Given the description of an element on the screen output the (x, y) to click on. 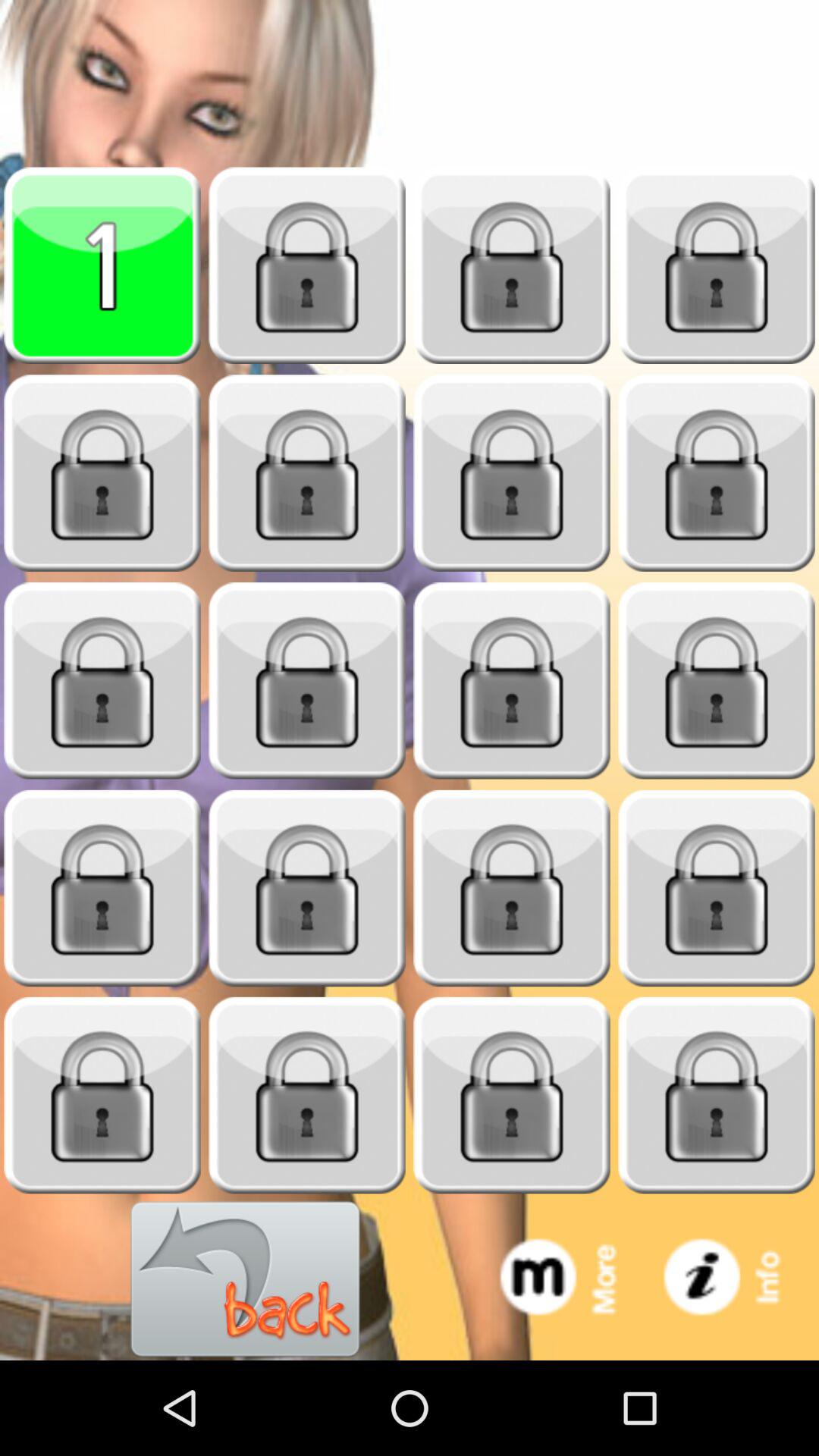
blok (511, 887)
